Given the description of an element on the screen output the (x, y) to click on. 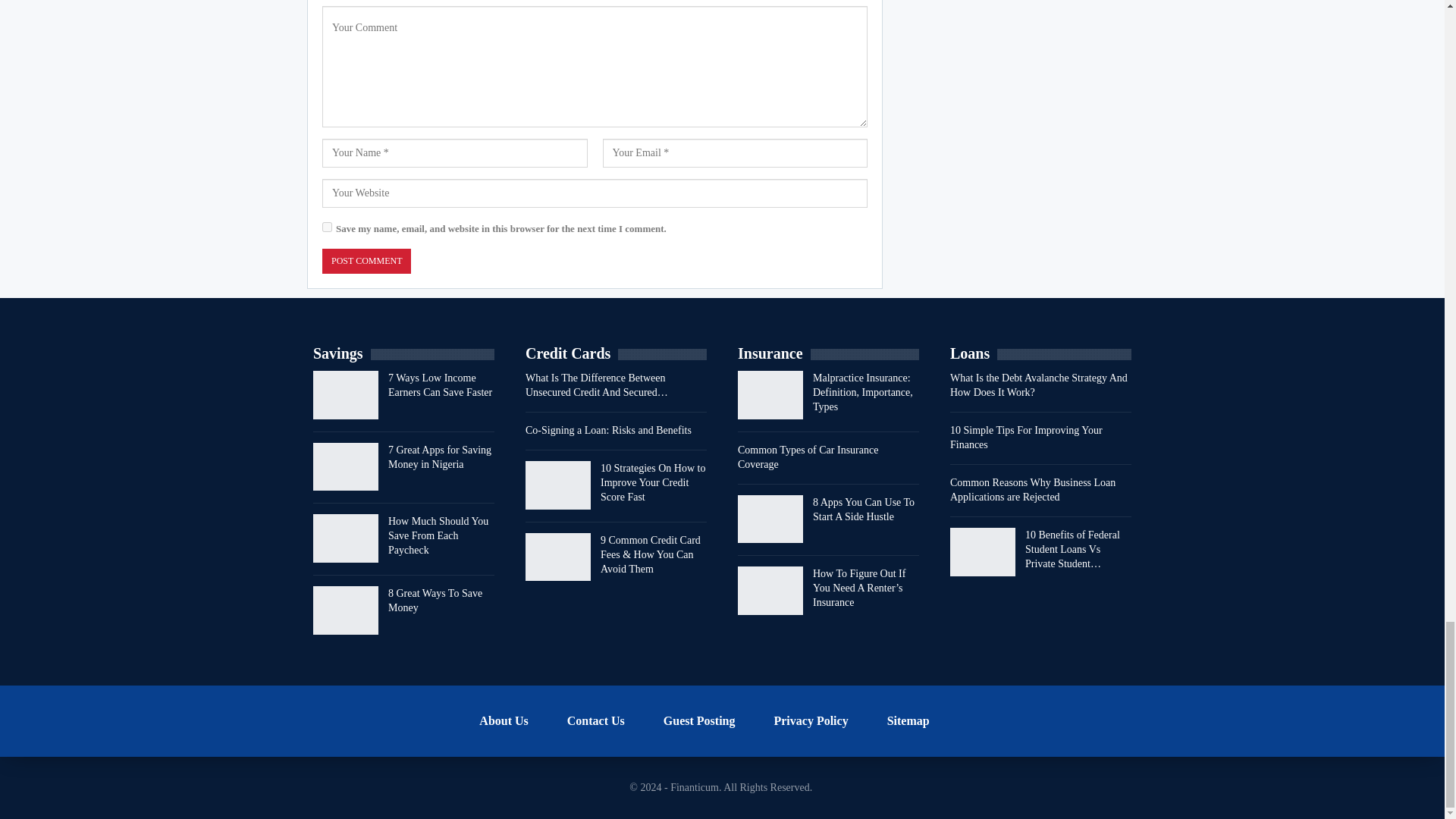
yes (326, 226)
7 Ways Low Income Earners Can Save Faster (345, 395)
Post Comment (365, 260)
